Given the description of an element on the screen output the (x, y) to click on. 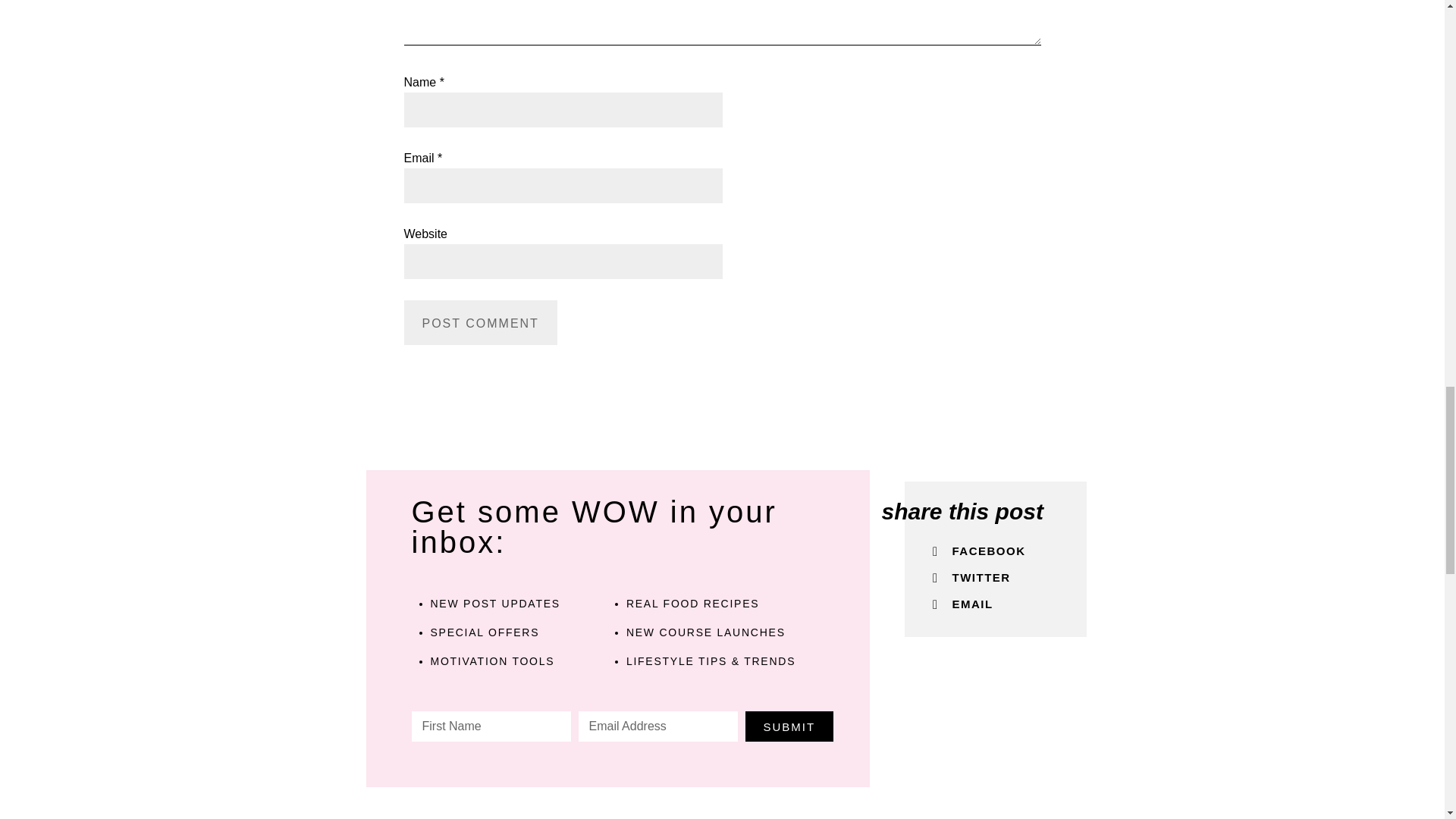
Post Comment (479, 322)
